Given the description of an element on the screen output the (x, y) to click on. 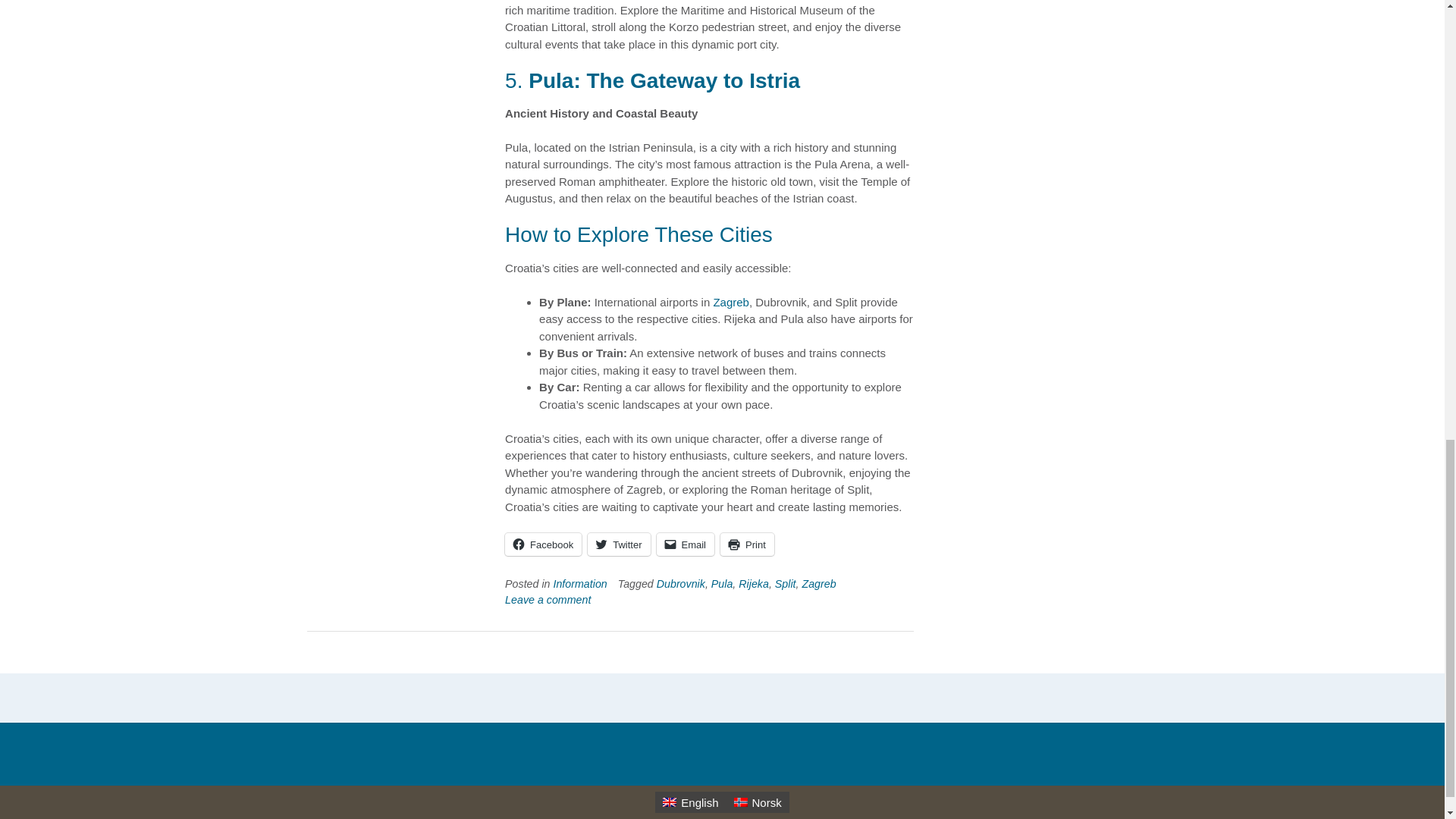
Facebook (542, 544)
English (690, 802)
Email (685, 544)
Dubrovnik (680, 583)
Click to share on Twitter (618, 544)
Information (580, 583)
Twitter (618, 544)
Click to email a link to a friend (685, 544)
Pula (722, 583)
Click to print (747, 544)
